Given the description of an element on the screen output the (x, y) to click on. 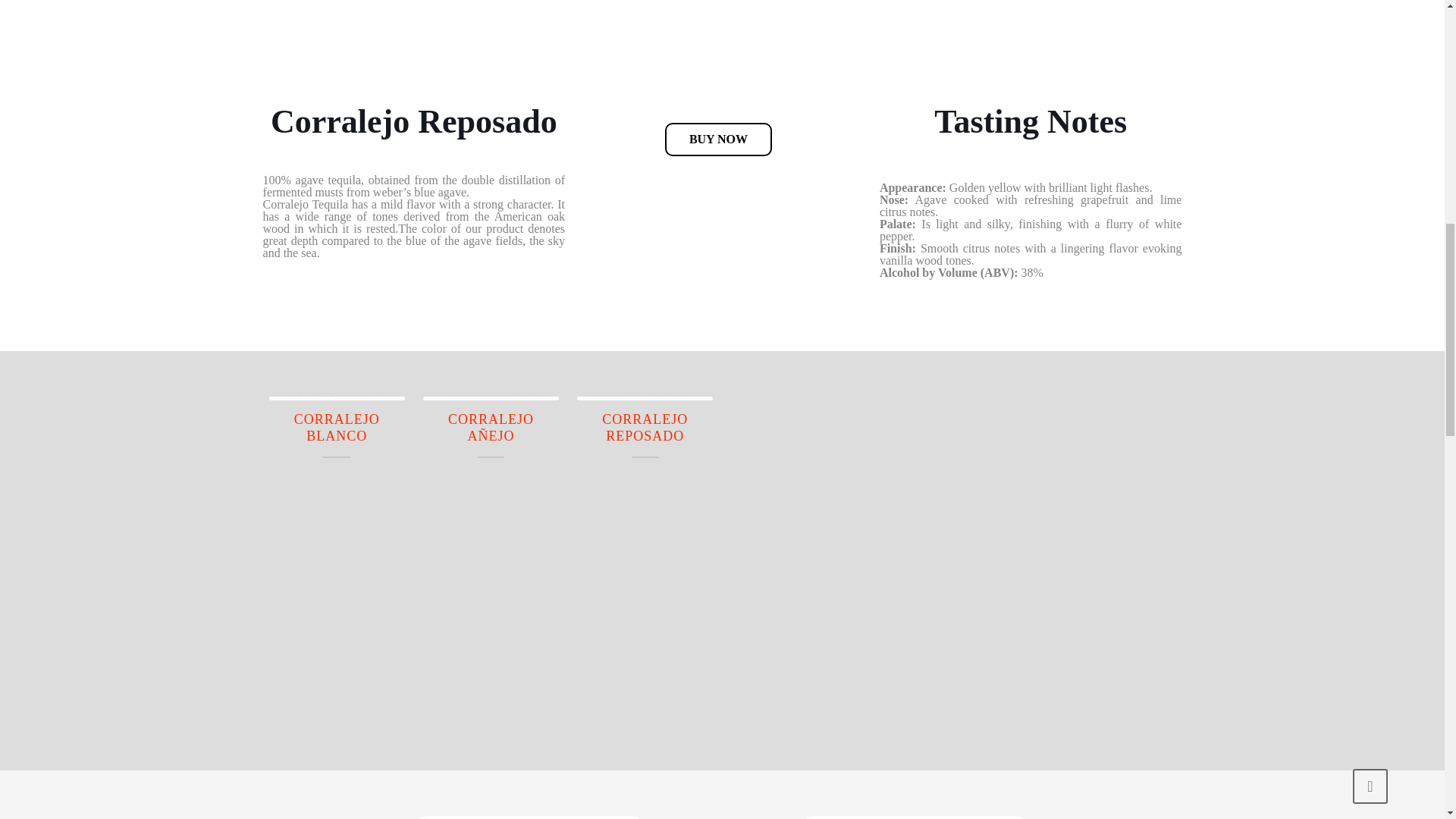
BUY NOW (718, 139)
CORRALEJO BLANCO (336, 433)
CORRALEJO REPOSADO (644, 433)
